Given the description of an element on the screen output the (x, y) to click on. 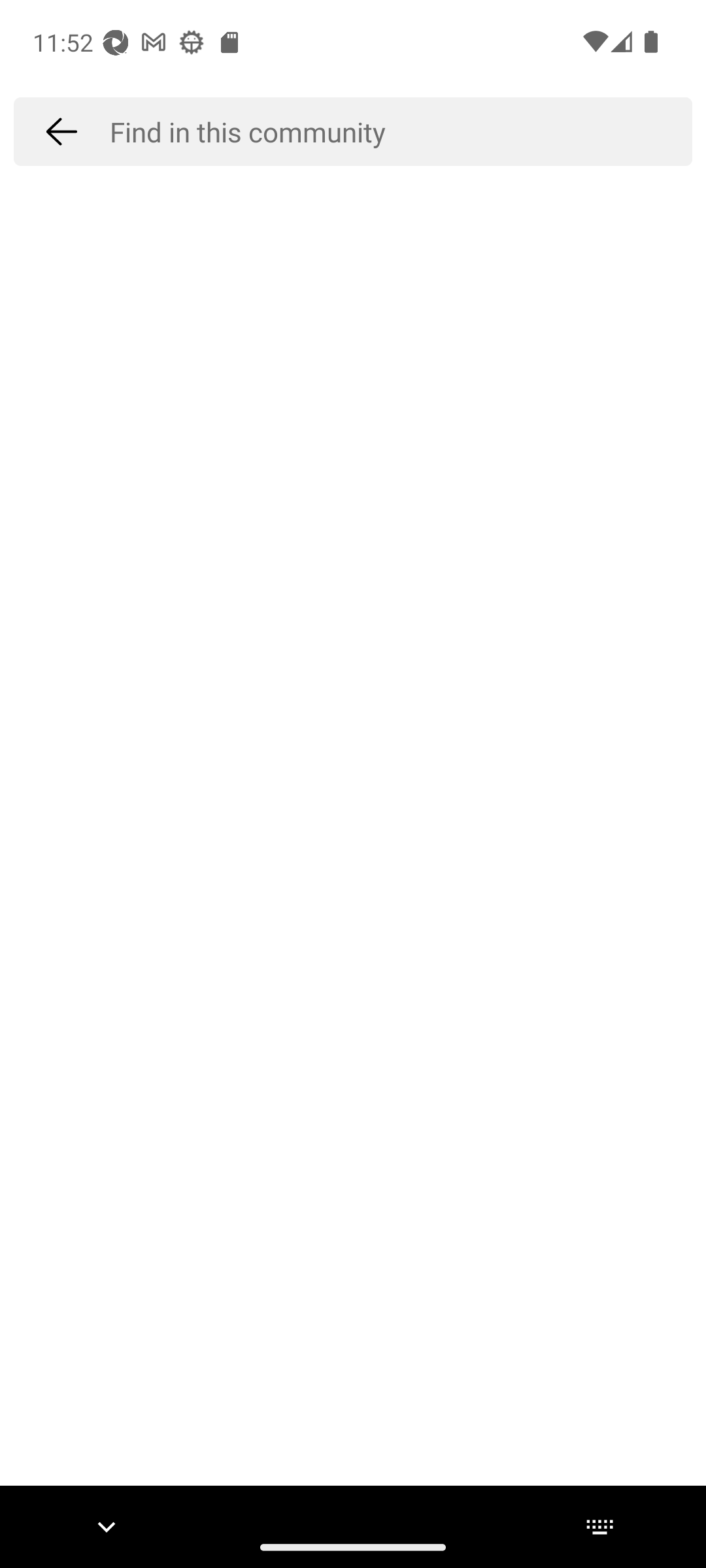
Back (61, 131)
Find in this community (401, 131)
